Given the description of an element on the screen output the (x, y) to click on. 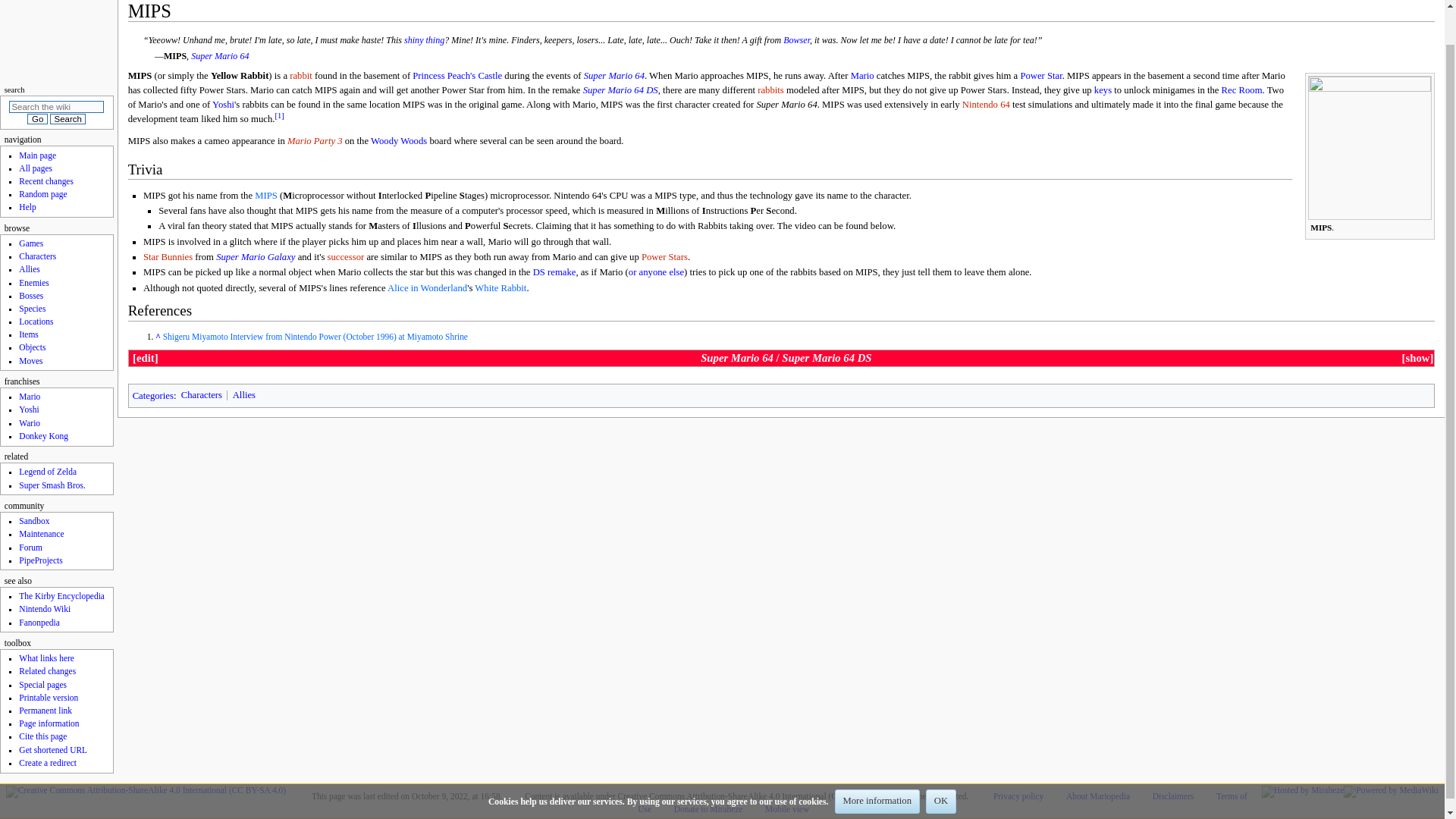
Search (67, 118)
Search (67, 118)
Super Mario 64 (614, 75)
anyone (652, 271)
Woody Woods (398, 140)
DS remake (554, 271)
Bowser (796, 40)
White Rabbit (499, 287)
Power Star (424, 40)
Super Mario 64 (614, 75)
